Given the description of an element on the screen output the (x, y) to click on. 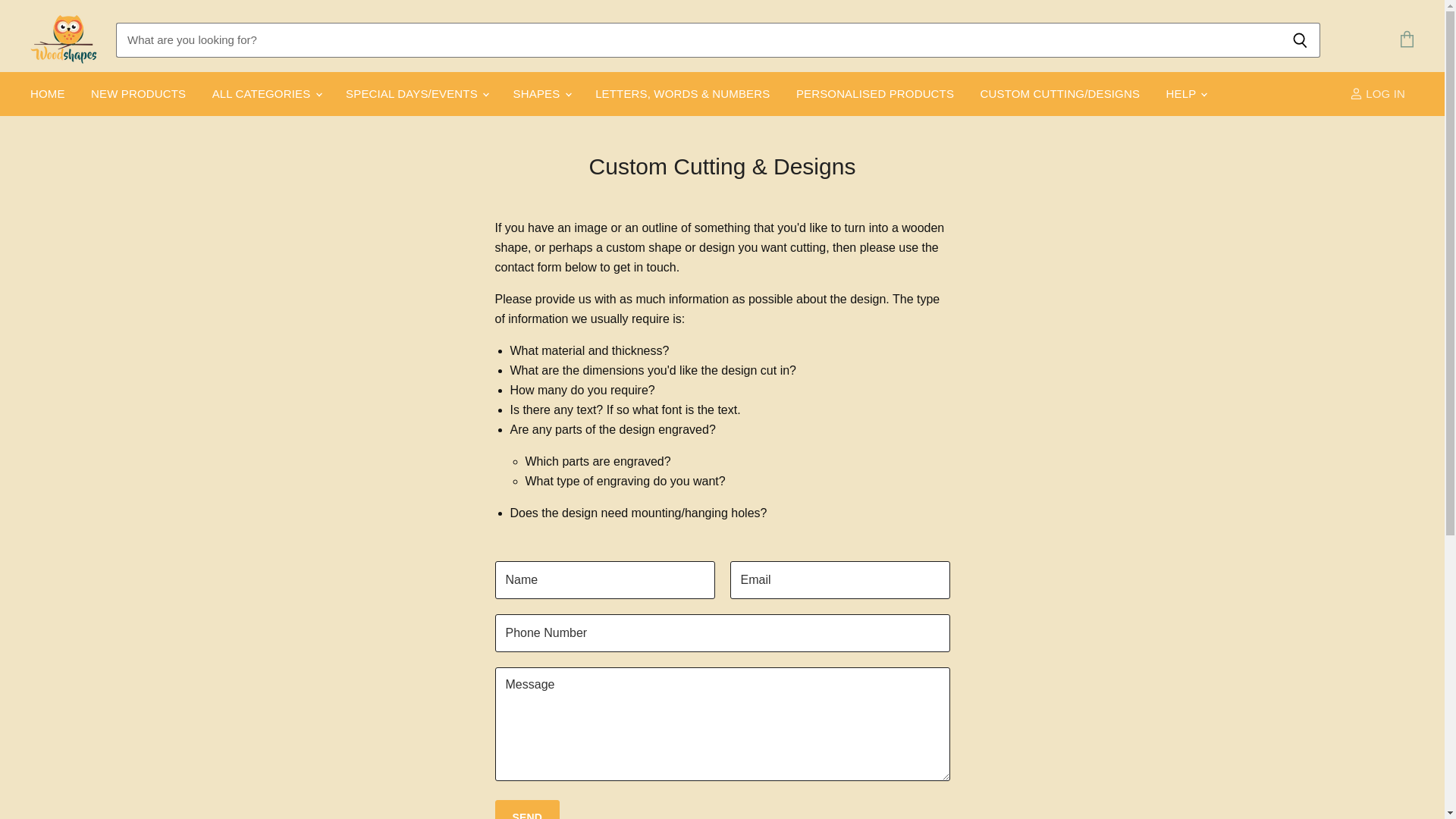
HOME (47, 93)
ACCOUNT ICON (1355, 92)
NEW PRODUCTS (138, 93)
SHAPES (541, 93)
ALL CATEGORIES (265, 93)
